Given the description of an element on the screen output the (x, y) to click on. 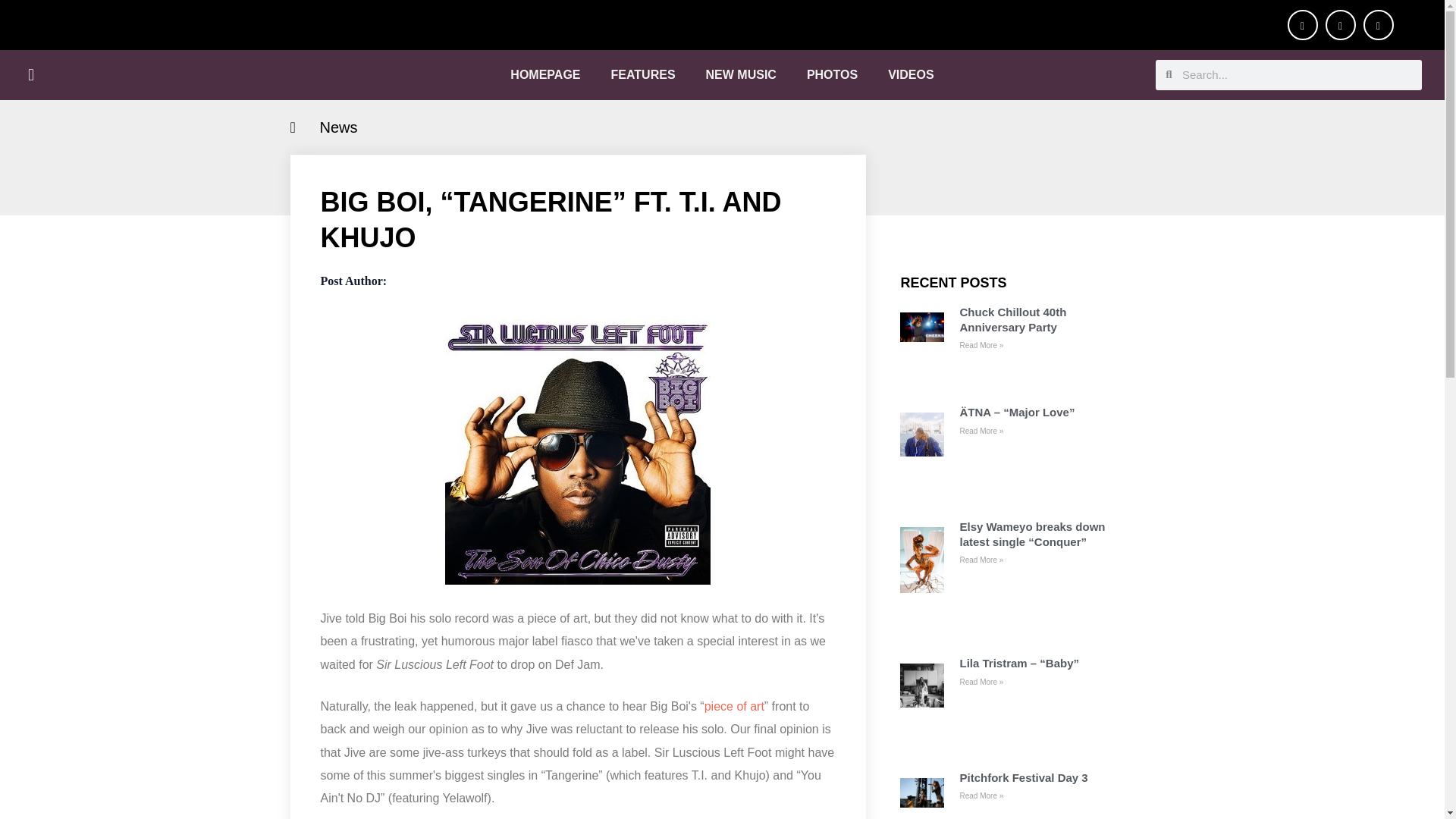
VIDEOS (910, 74)
Chuck Chillout 40th Anniversary Party (1039, 319)
News (339, 126)
piece of art (734, 706)
PHOTOS (832, 74)
FEATURES (642, 74)
HOMEPAGE (545, 74)
NEW MUSIC (741, 74)
